Given the description of an element on the screen output the (x, y) to click on. 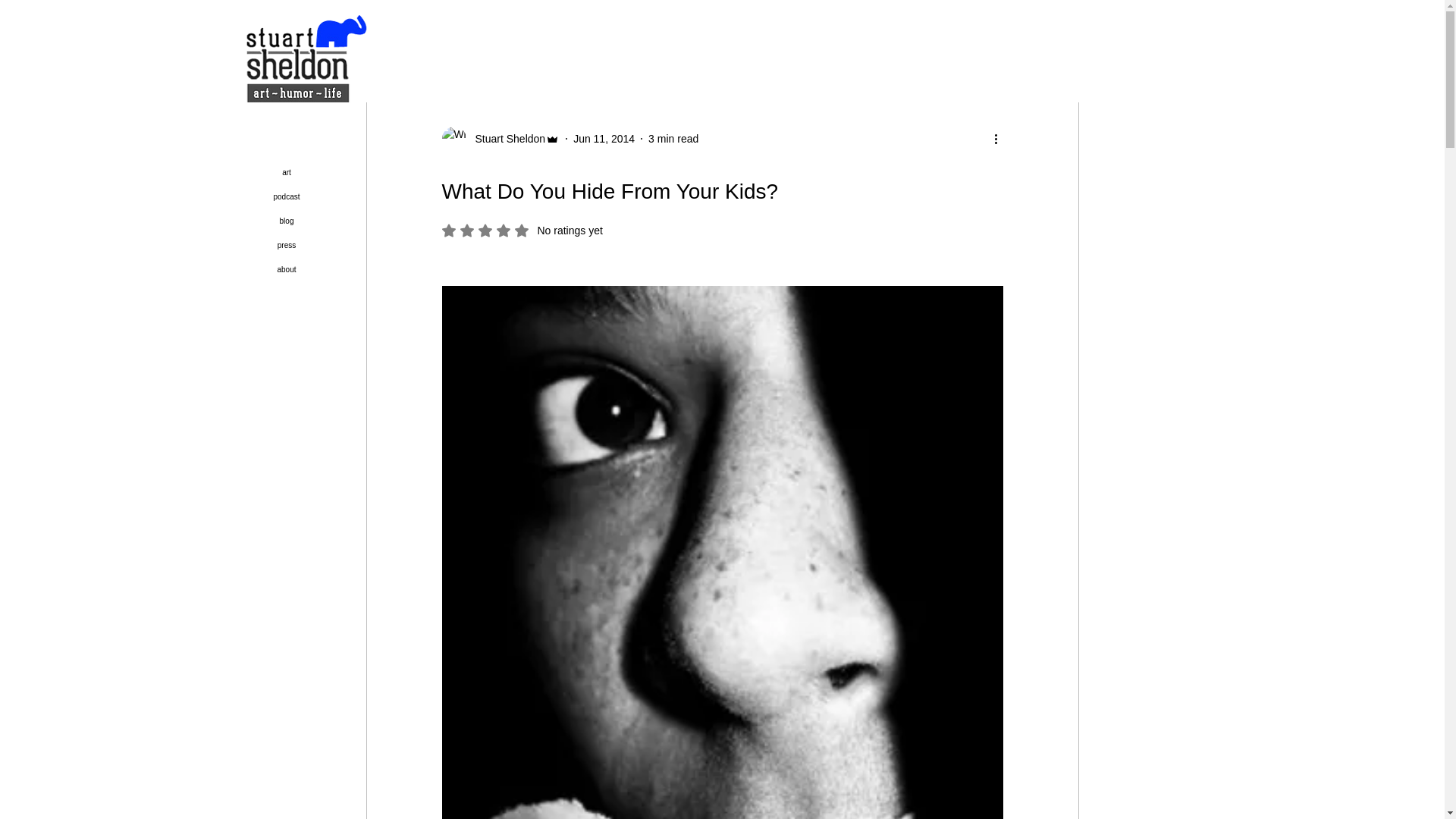
Press (641, 34)
Paintings (577, 34)
All Posts (385, 34)
Installation (710, 34)
Stuart Sheldon (504, 138)
Sculpture (788, 34)
3 min read (672, 137)
Art Work (521, 230)
Jun 11, 2014 (456, 34)
Blog (603, 137)
television (515, 34)
